Given the description of an element on the screen output the (x, y) to click on. 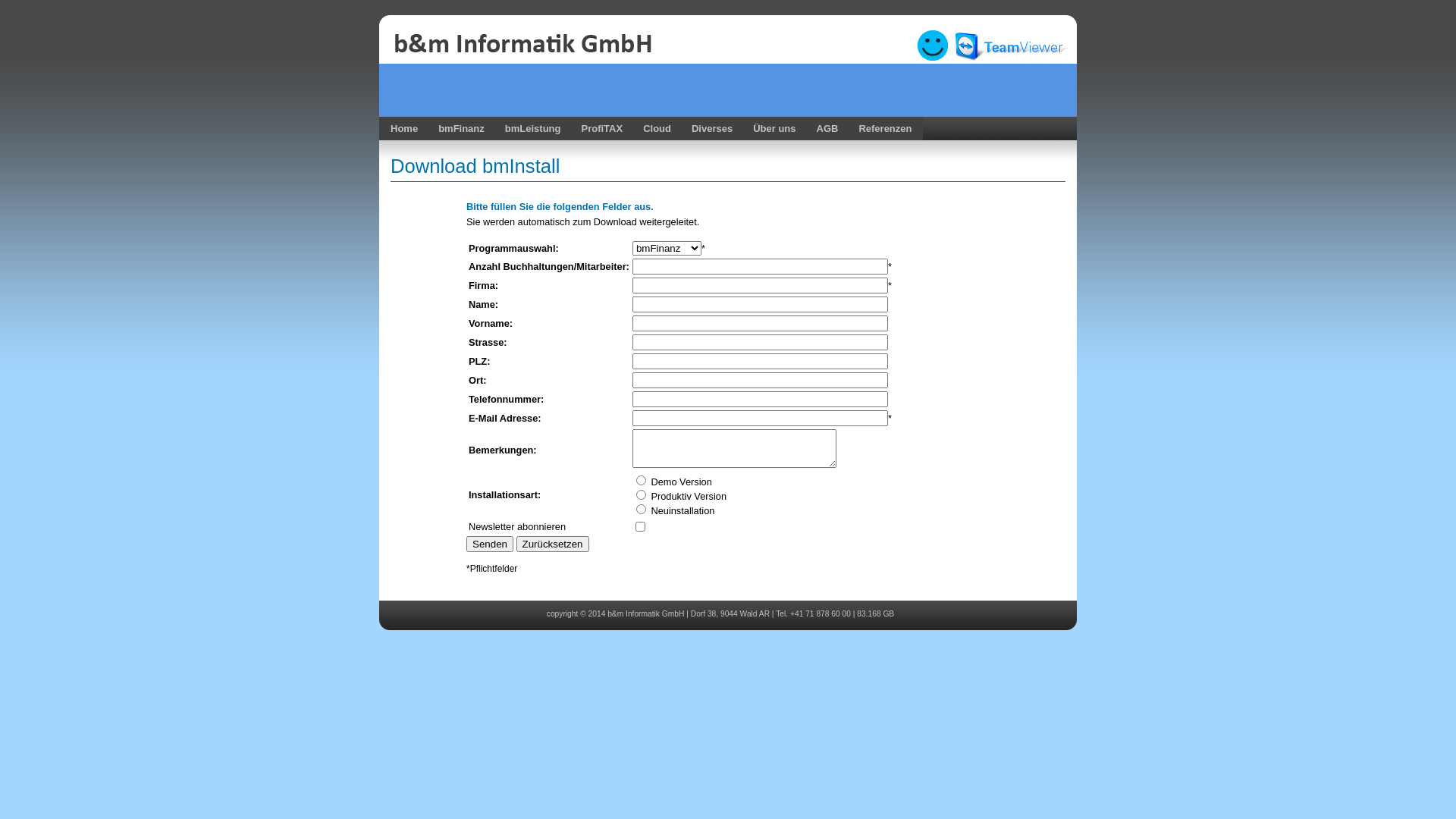
bmLeistung Element type: text (532, 128)
Referenzen Element type: text (884, 128)
Cloud Element type: text (656, 128)
Home Element type: text (404, 128)
ProfiTAX Element type: text (599, 128)
bmFinanz Element type: text (460, 128)
AGB Element type: text (825, 128)
bmFinanz Element type: text (458, 128)
Diverses Element type: text (709, 128)
Cloud Element type: text (654, 128)
Home Element type: text (401, 128)
AGB Element type: text (827, 128)
ProfiTAX Element type: text (601, 128)
Senden Element type: text (489, 544)
bmLeistung Element type: text (530, 128)
Diverses Element type: text (711, 128)
Referenzen Element type: text (882, 128)
